Given the description of an element on the screen output the (x, y) to click on. 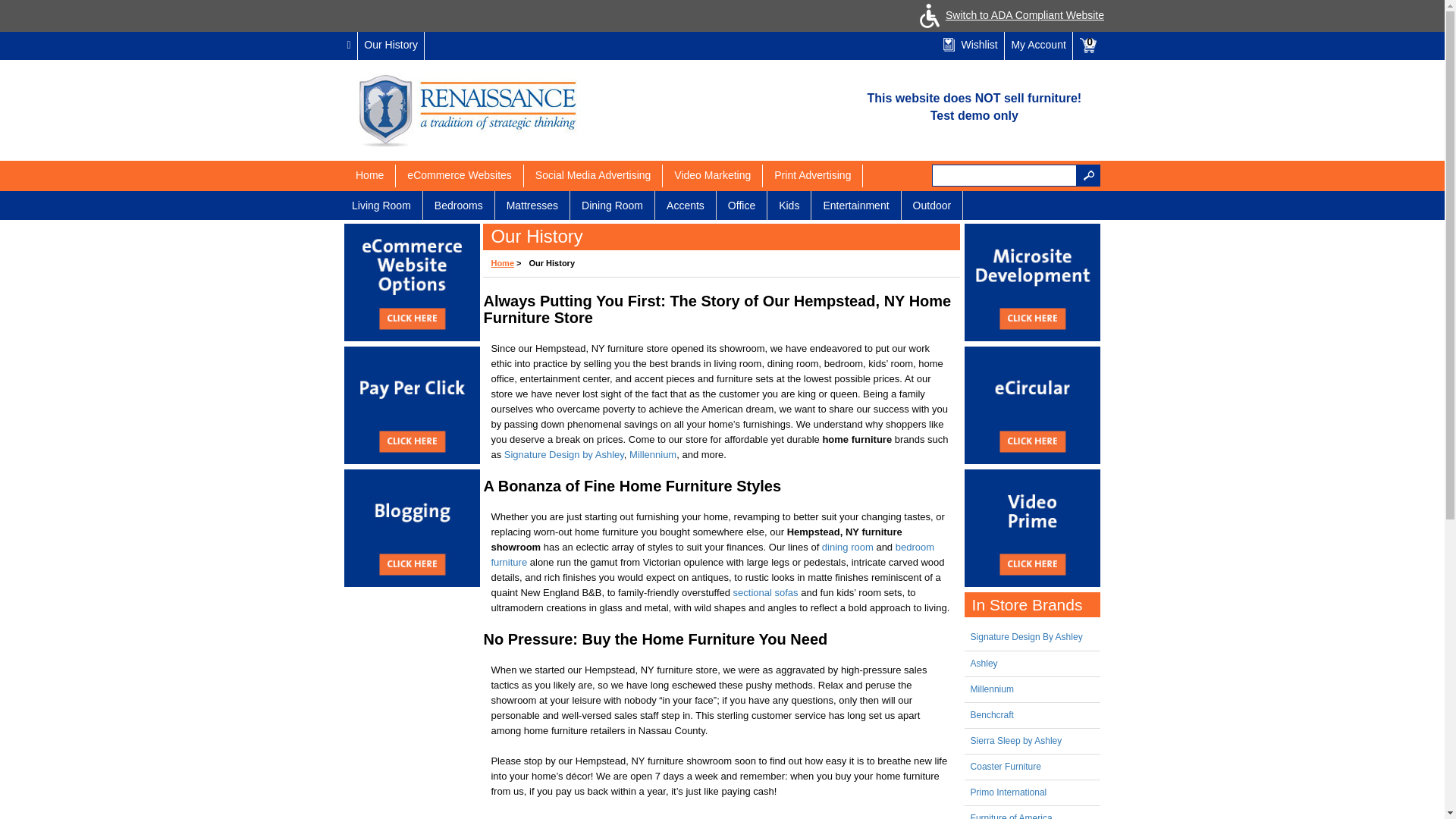
Switch to ADA Compliant Website (1008, 15)
Search (1088, 175)
 0 (1088, 45)
What would you like to search? (1004, 175)
Our History (391, 45)
Visit our Our History (391, 45)
Go to ADA Compliant Website (1008, 15)
My Account (1037, 45)
Visit our Home (348, 45)
  Wishlist (970, 45)
